Given the description of an element on the screen output the (x, y) to click on. 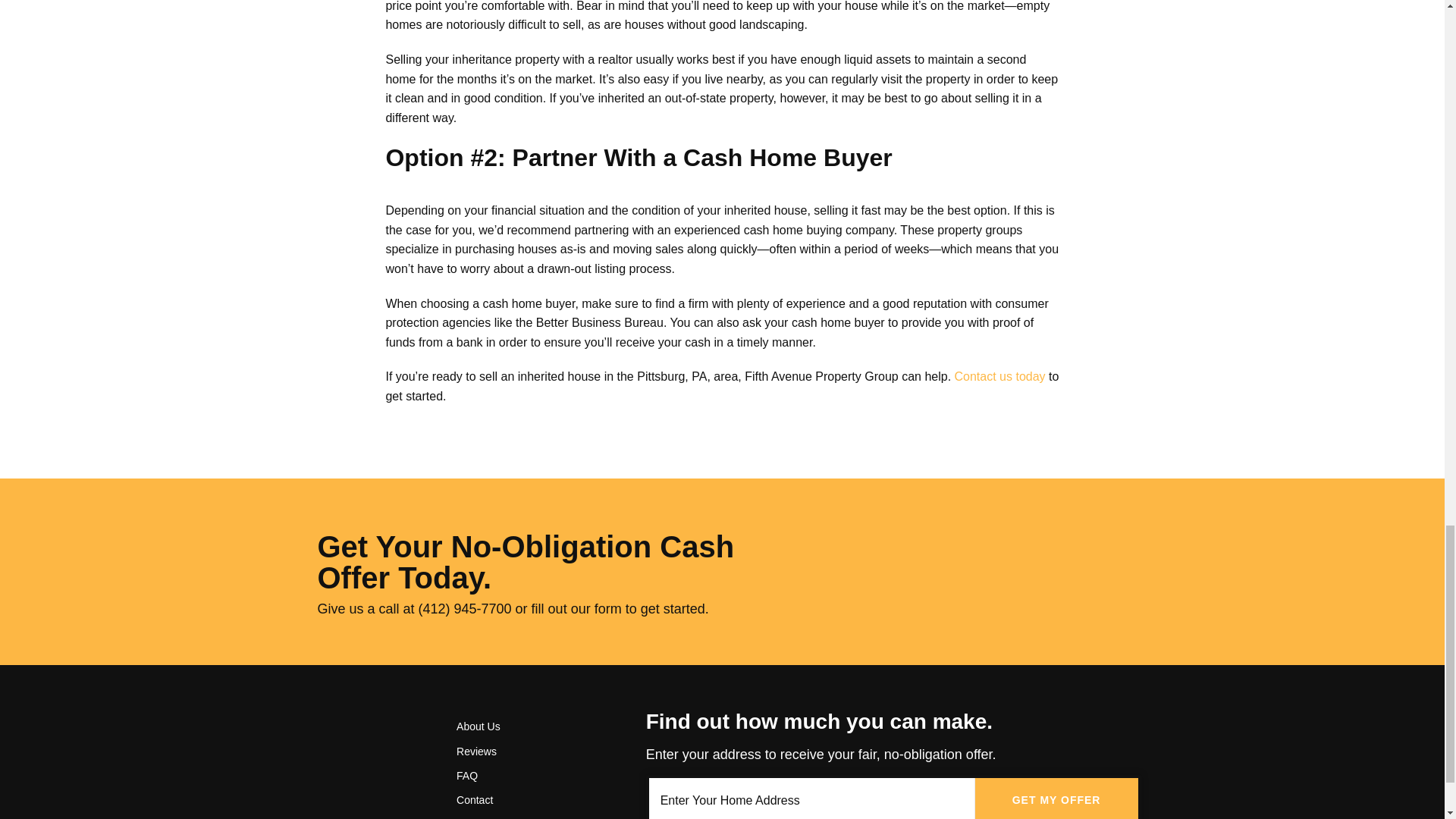
Contact (533, 799)
FAQ (533, 775)
Reviews (533, 751)
Contact us today (1000, 376)
Get My Offer (1056, 798)
Get My Offer (1056, 798)
About Us (533, 726)
